Given the description of an element on the screen output the (x, y) to click on. 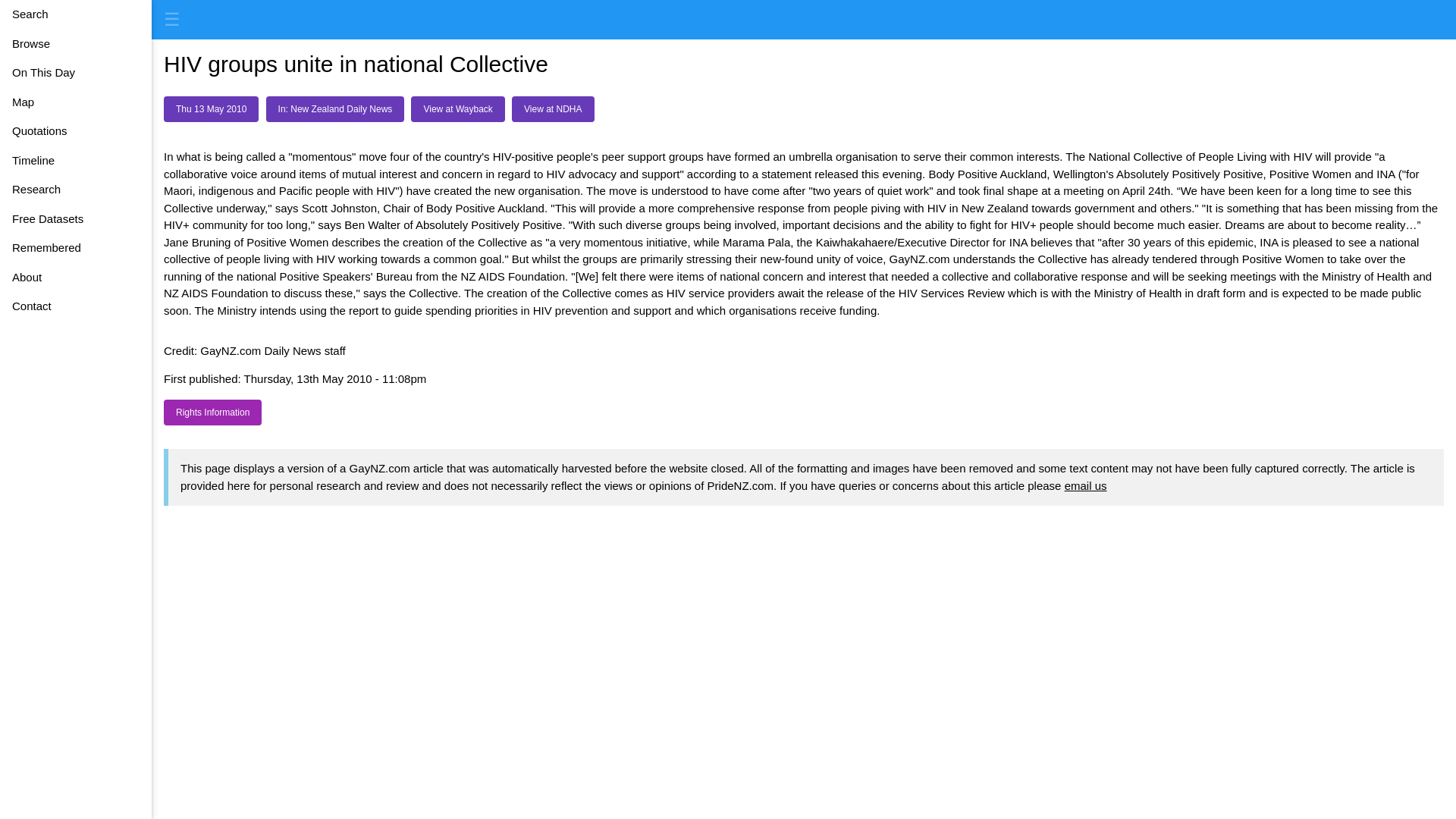
Browse (75, 43)
Quotations (75, 131)
Browse (75, 43)
Research (75, 189)
email us (1085, 485)
Timeline (75, 160)
Remembered (75, 247)
Free Datasets (75, 219)
New Zealand Daily News (335, 109)
Search (75, 14)
